Given the description of an element on the screen output the (x, y) to click on. 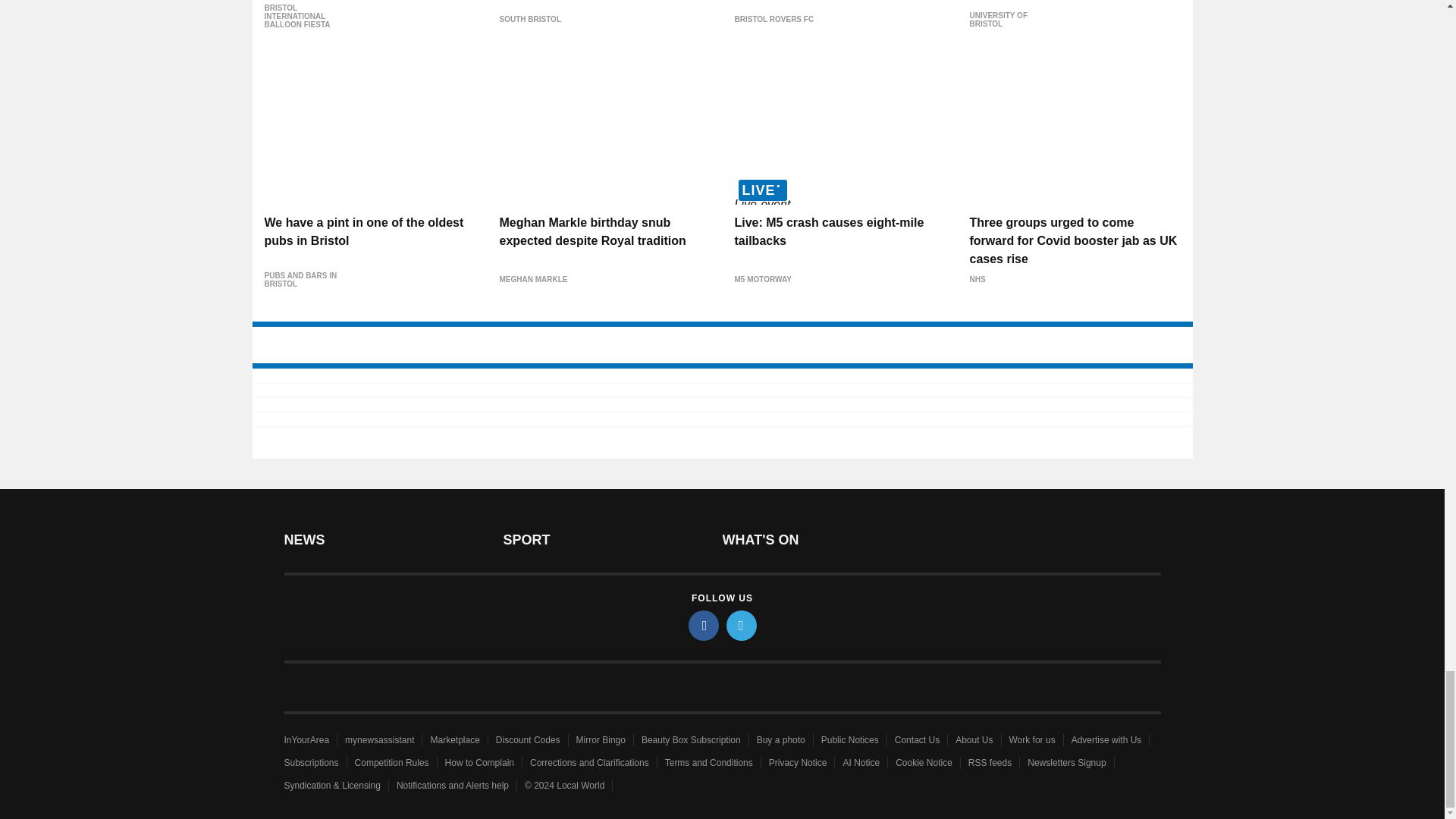
facebook (703, 625)
twitter (741, 625)
